Given the description of an element on the screen output the (x, y) to click on. 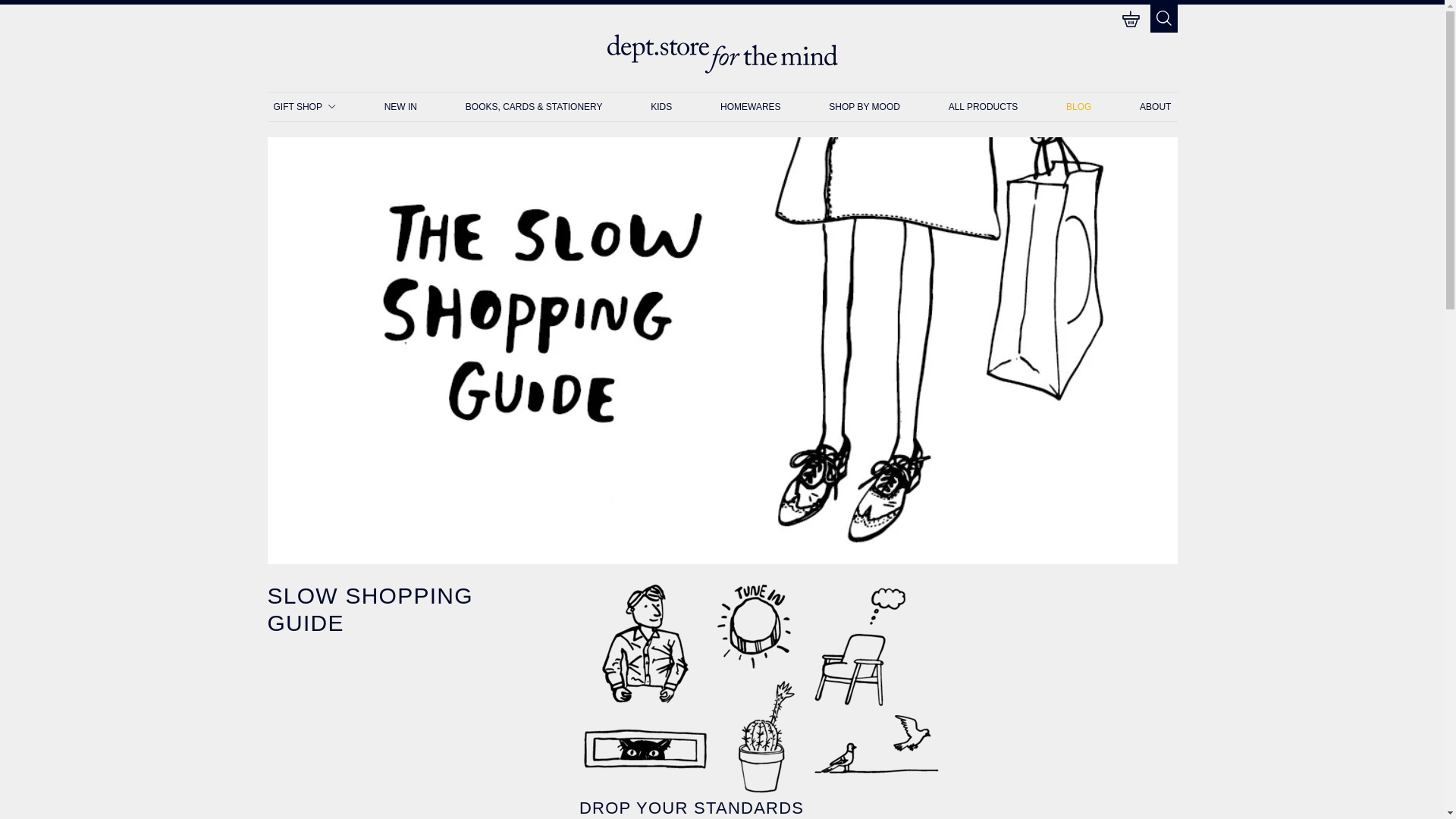
DEPARTMENT STORE FOR THE MIND (722, 53)
SHOP BY MOOD (949, 46)
GIFT SHOP (863, 106)
GO (303, 106)
SHOPPING BAG (597, 49)
HOMEWARES (1130, 19)
NEW IN (750, 106)
ALL PRODUCTS (400, 106)
KIDS (983, 106)
